Given the description of an element on the screen output the (x, y) to click on. 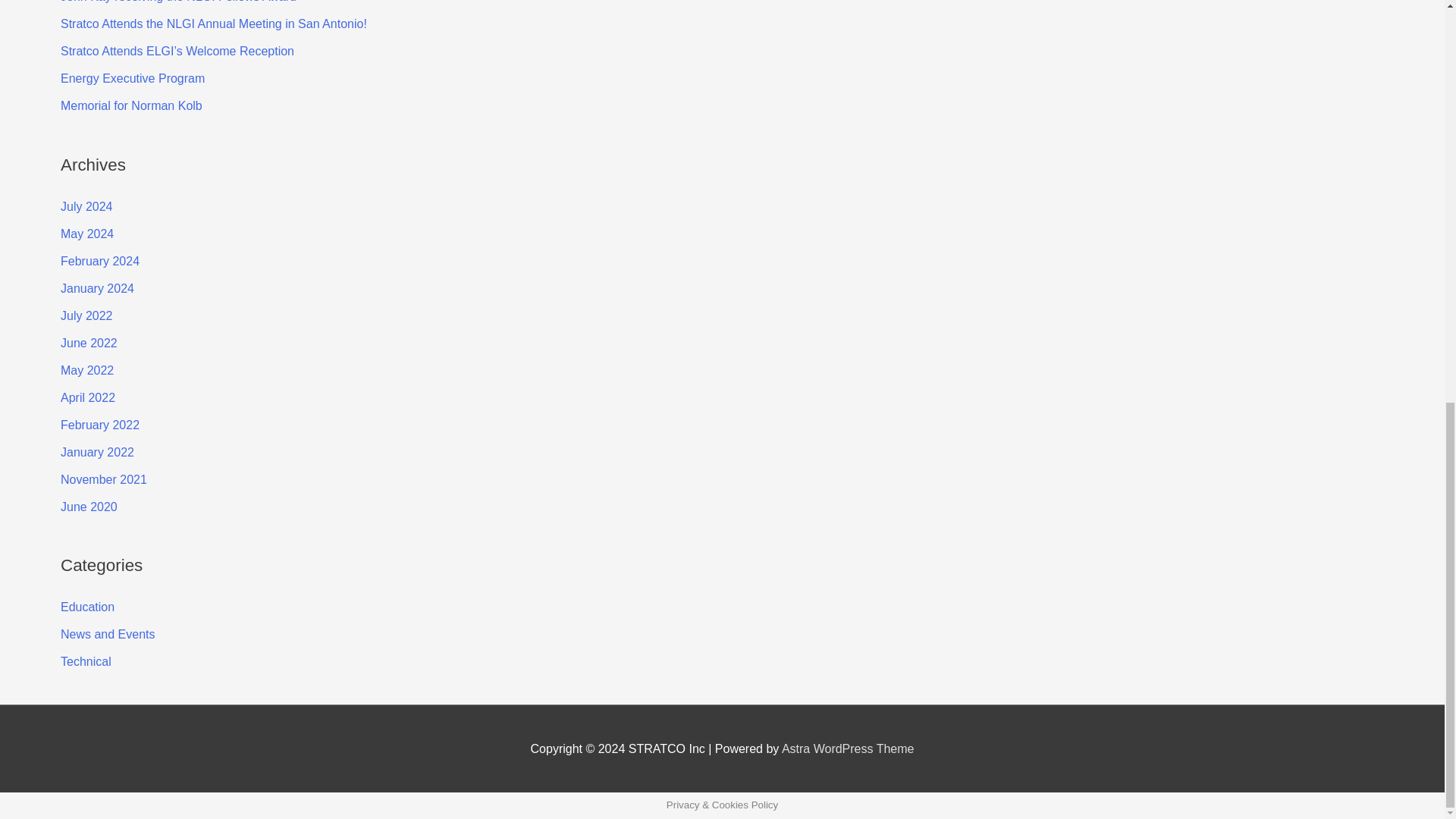
April 2022 (88, 397)
John Kay receiving the NLGI Fellows Award (179, 1)
June 2022 (89, 342)
January 2022 (97, 451)
July 2024 (87, 205)
January 2024 (97, 287)
Stratco Attends the NLGI Annual Meeting in San Antonio! (213, 23)
February 2022 (100, 424)
Energy Executive Program (133, 78)
July 2022 (87, 315)
